Given the description of an element on the screen output the (x, y) to click on. 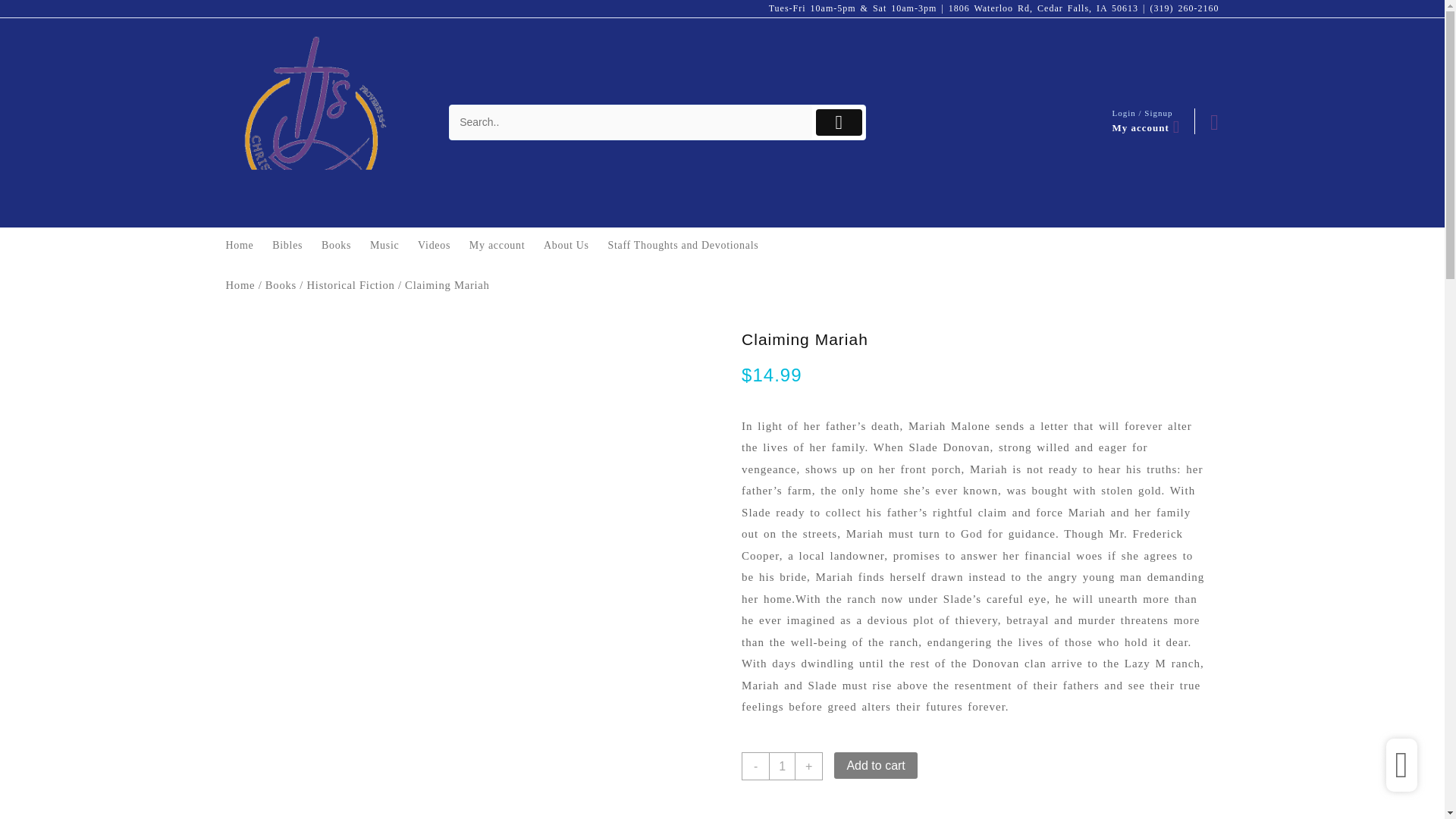
1 (781, 765)
1806 Waterloo Rd, Cedar Falls, IA 50613 (1043, 8)
Submit (838, 121)
Search (630, 122)
